Given the description of an element on the screen output the (x, y) to click on. 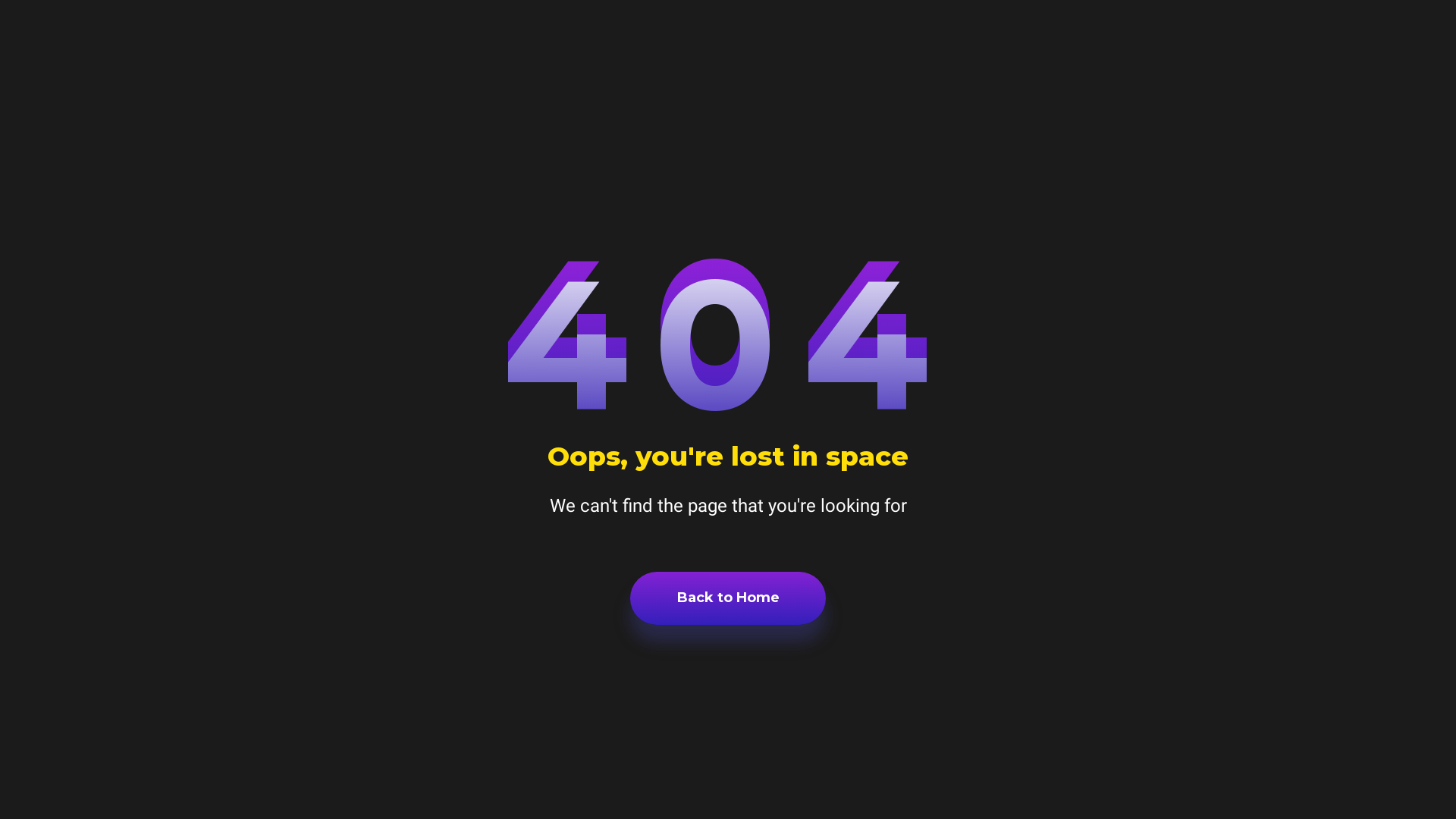
Back to Home Element type: text (727, 597)
